Given the description of an element on the screen output the (x, y) to click on. 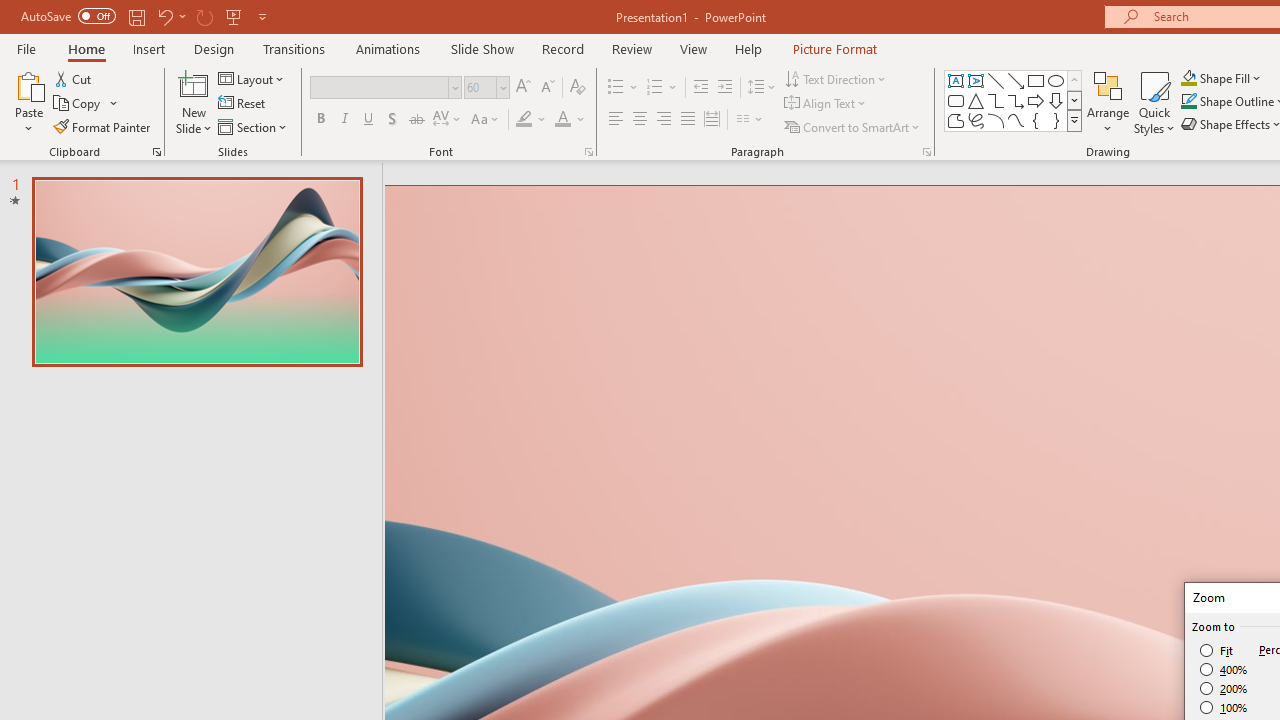
200% (1224, 688)
